Given the description of an element on the screen output the (x, y) to click on. 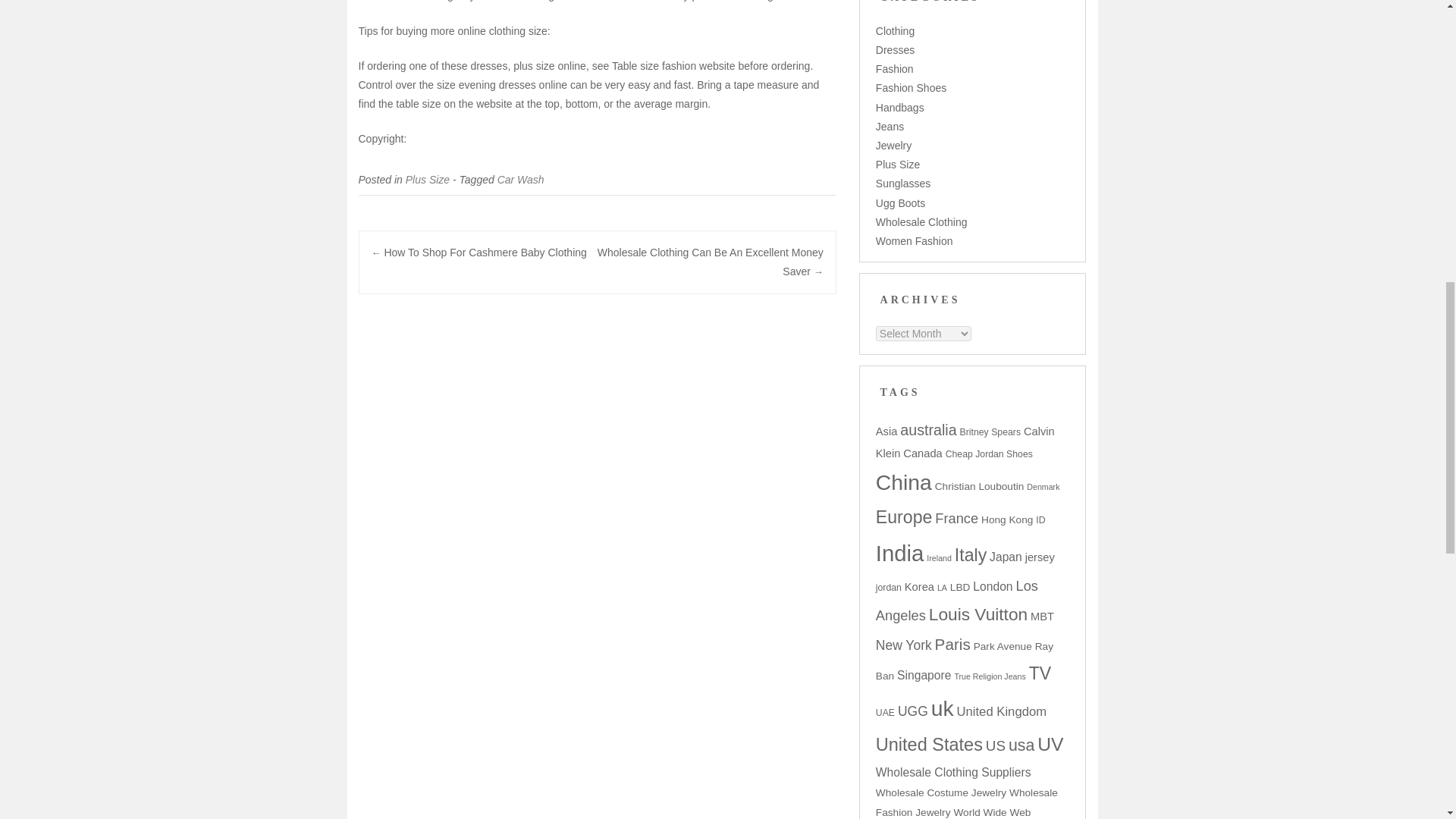
Car Wash (520, 179)
Plus Size (427, 179)
